Given the description of an element on the screen output the (x, y) to click on. 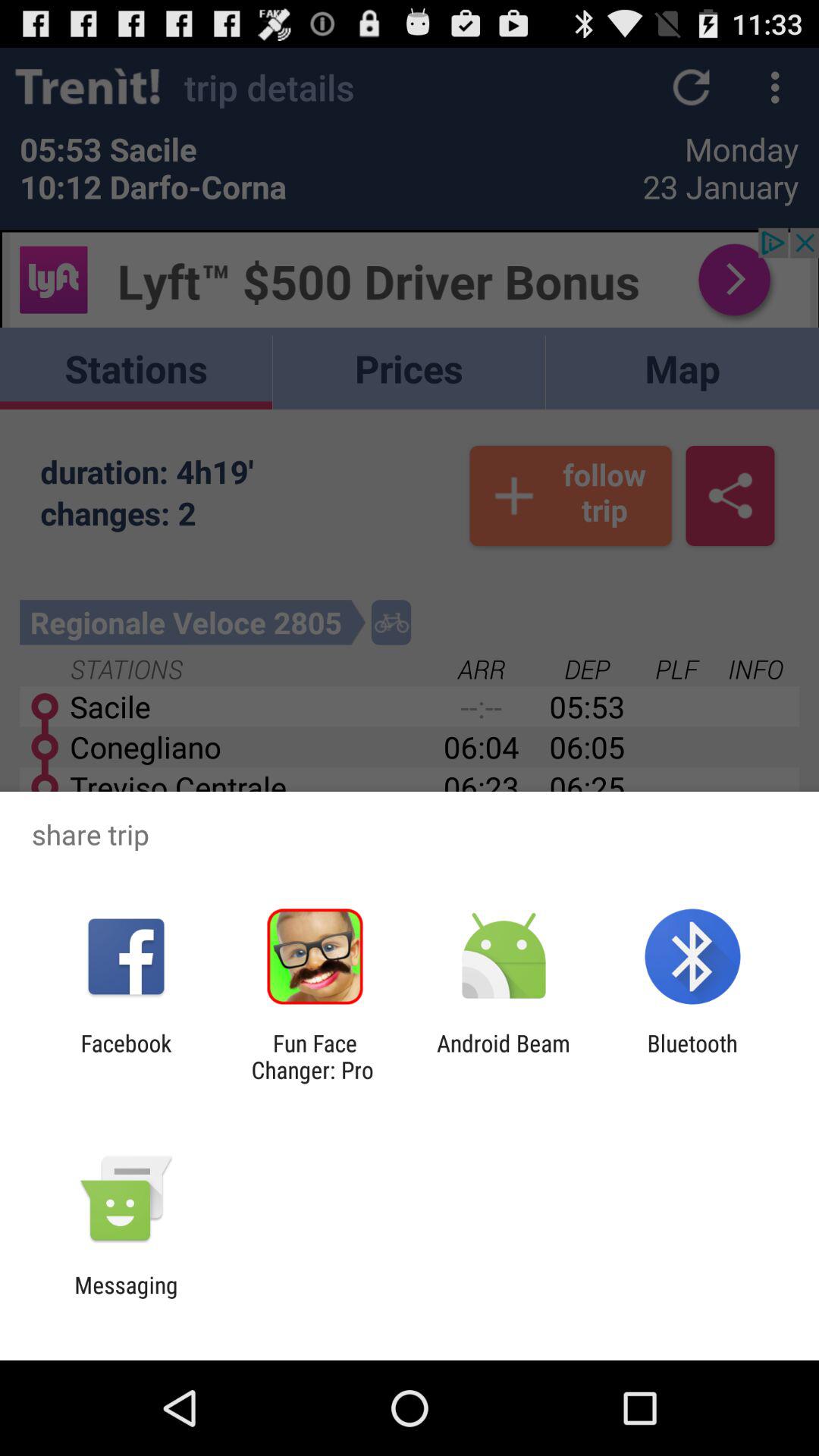
select the fun face changer (314, 1056)
